Given the description of an element on the screen output the (x, y) to click on. 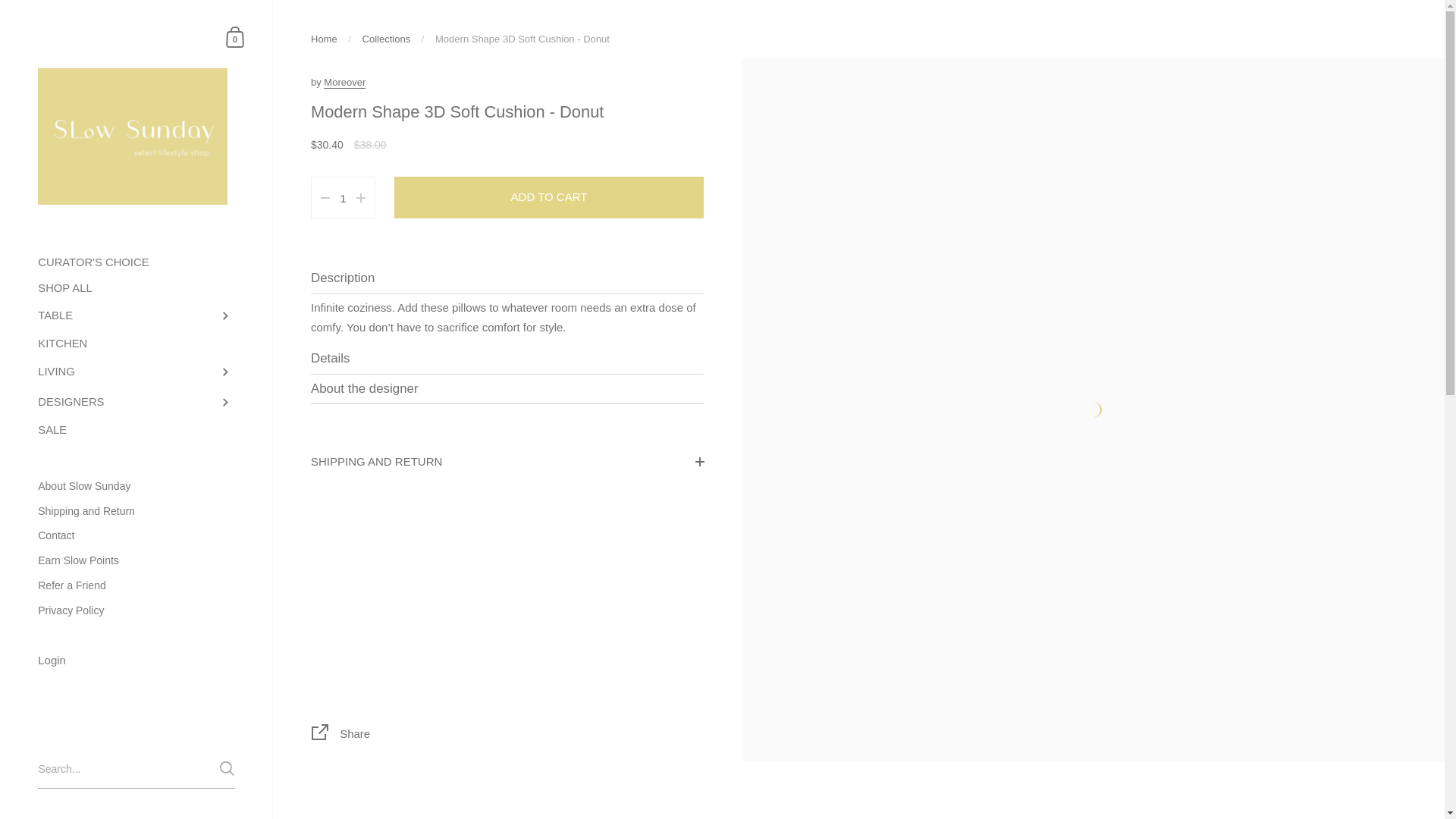
DESIGNERS (136, 402)
LIVING (136, 372)
1 (342, 198)
KITCHEN (136, 344)
SHOP ALL (136, 289)
TABLE (136, 316)
Moreover (344, 81)
CURATOR'S CHOICE (136, 263)
Shopping Cart (235, 35)
